Given the description of an element on the screen output the (x, y) to click on. 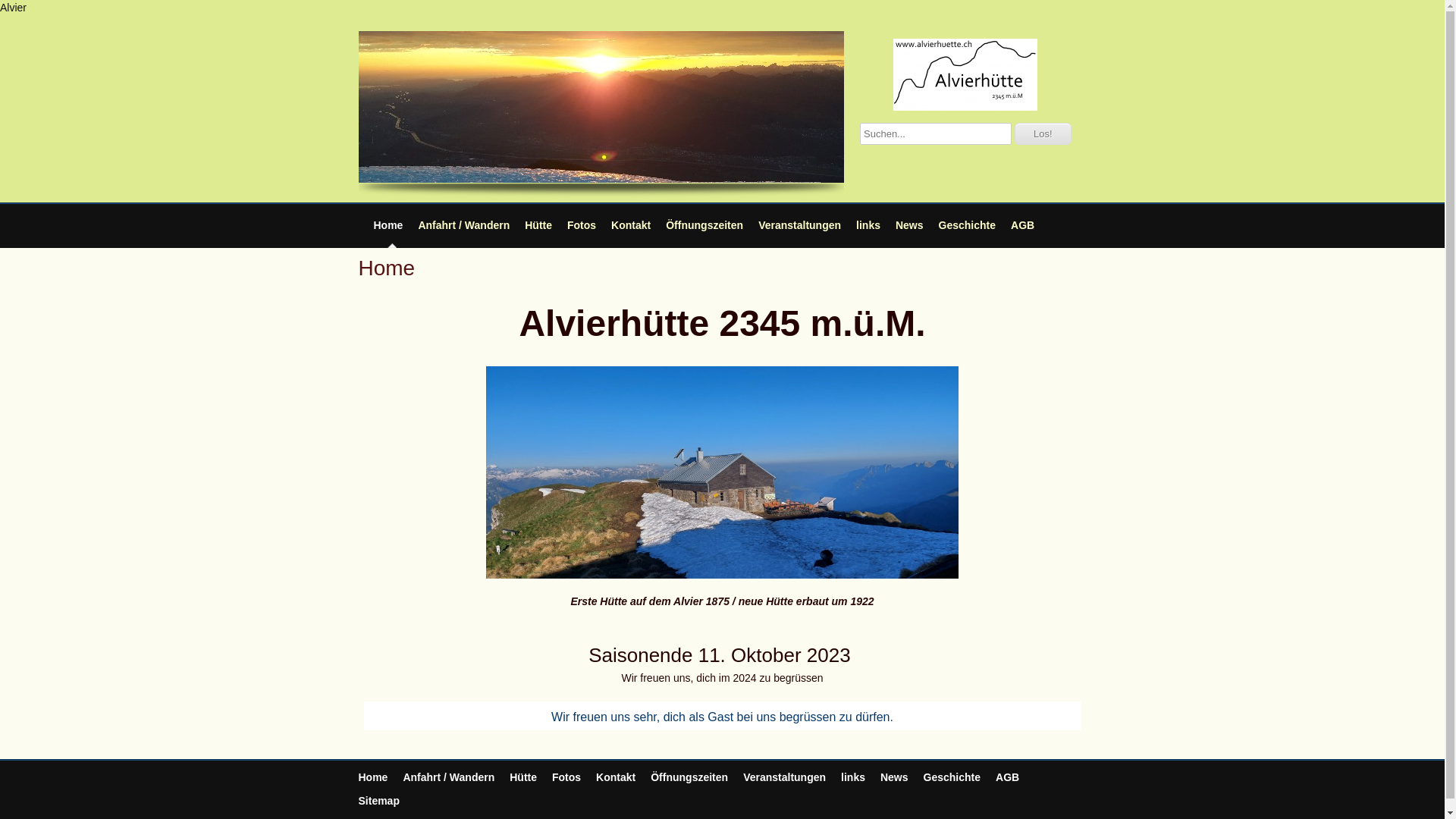
Fotos Element type: text (581, 225)
Veranstaltungen Element type: text (784, 777)
Geschichte Element type: text (966, 225)
Kontakt Element type: text (630, 225)
Anfahrt / Wandern Element type: text (448, 777)
AGB Element type: text (1007, 777)
Sitemap Element type: text (377, 800)
Kontakt Element type: text (615, 777)
Geschichte Element type: text (951, 777)
News Element type: text (894, 777)
links Element type: text (852, 777)
Los! Element type: text (1042, 133)
Veranstaltungen Element type: text (799, 225)
News Element type: text (909, 225)
Home Element type: text (372, 777)
AGB Element type: text (1022, 225)
Home Element type: text (387, 225)
Fotos Element type: text (566, 777)
links Element type: text (868, 225)
Anfahrt / Wandern Element type: text (463, 225)
